Given the description of an element on the screen output the (x, y) to click on. 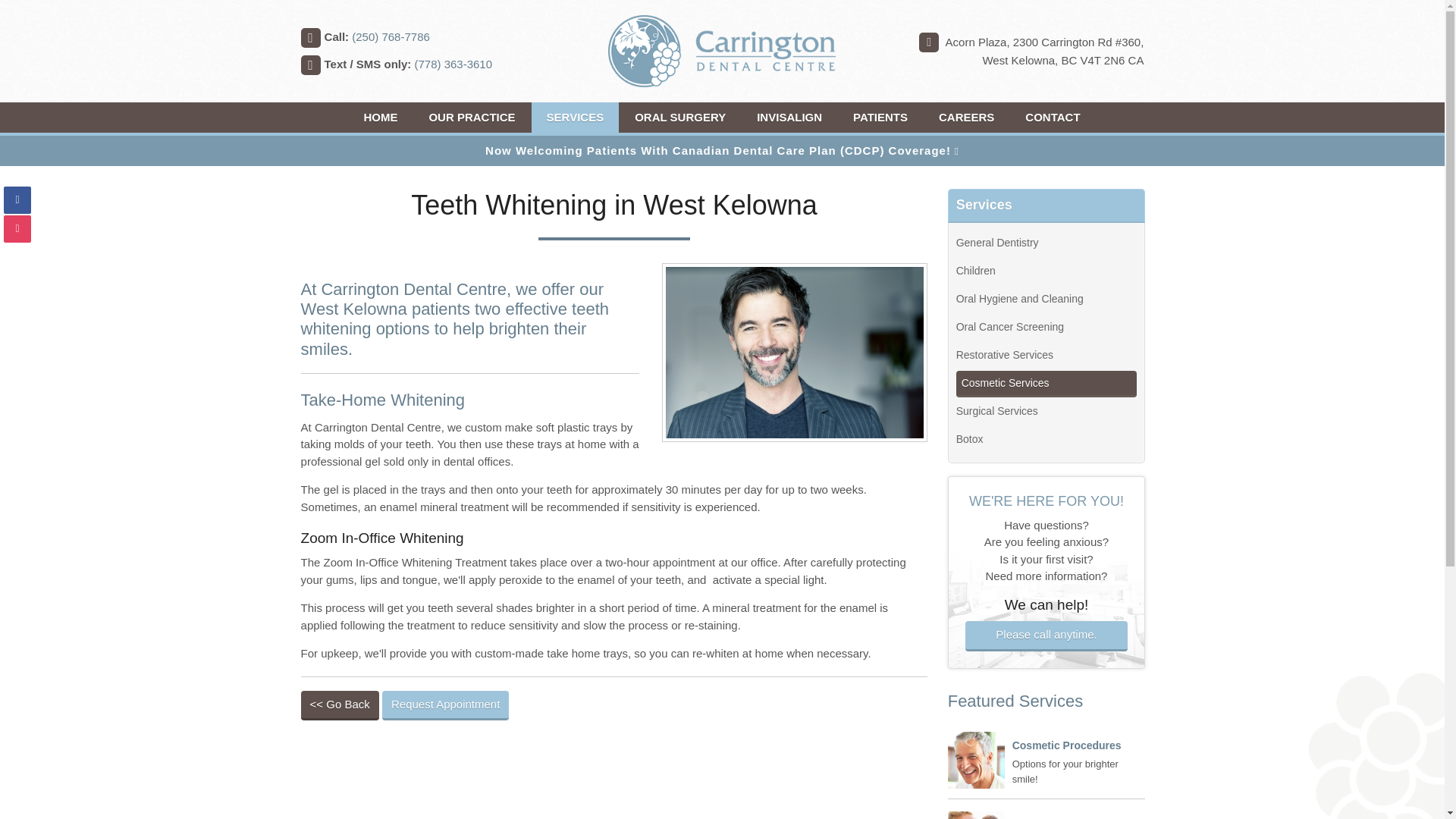
Carrington Dental, West Kelowna Dentist (471, 117)
Oral Surgery in Kelowna (680, 117)
HOME (379, 117)
INVISALIGN (789, 117)
Oral Hygiene and Cleaning (1046, 299)
Children (1046, 271)
Carrington Dental Centre, West Kelowna Dentist (379, 117)
PATIENTS (880, 117)
Oral Cancer Screening (1046, 327)
General Dentistry (1046, 243)
